Given the description of an element on the screen output the (x, y) to click on. 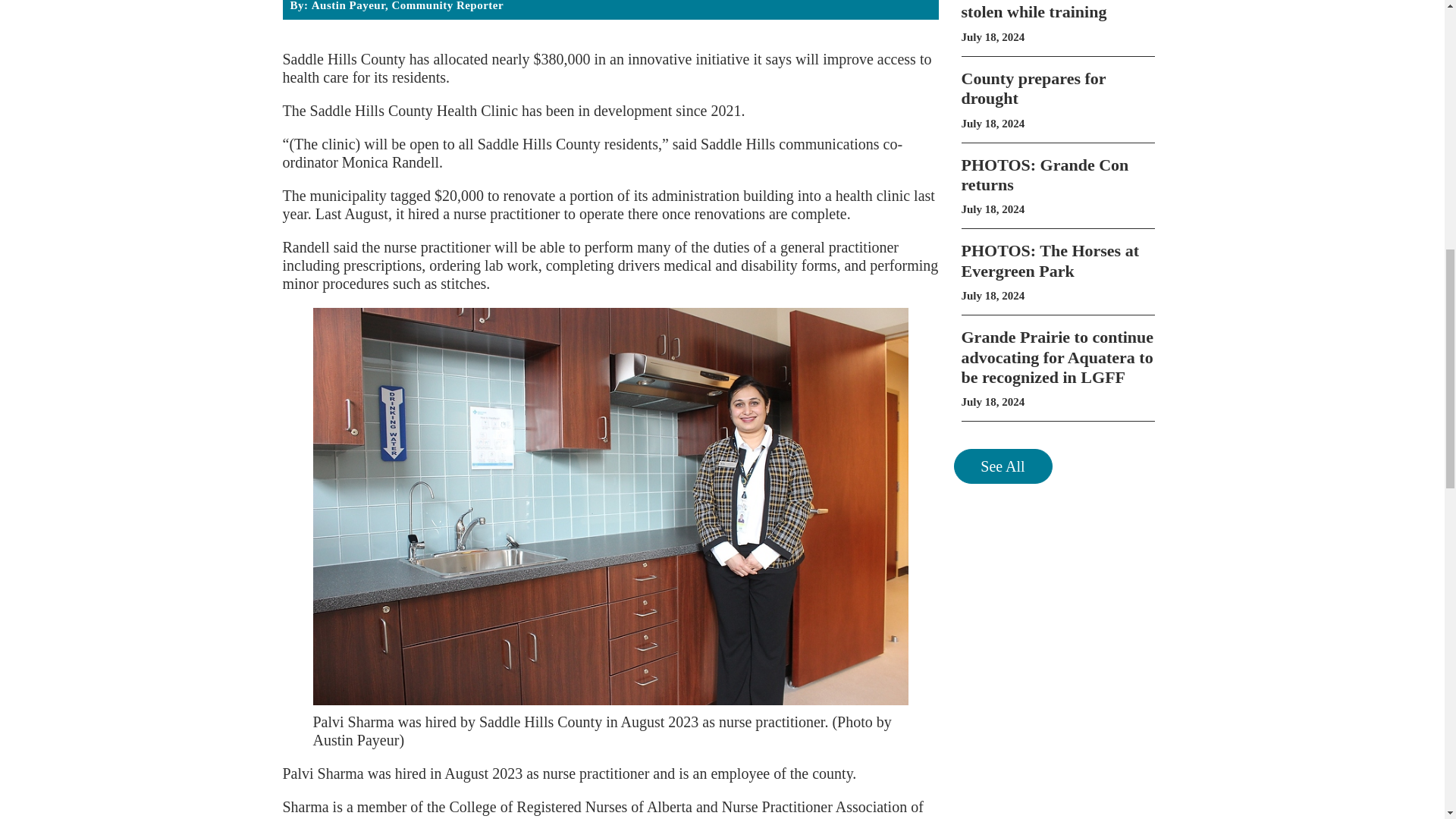
See All (1057, 22)
